Given the description of an element on the screen output the (x, y) to click on. 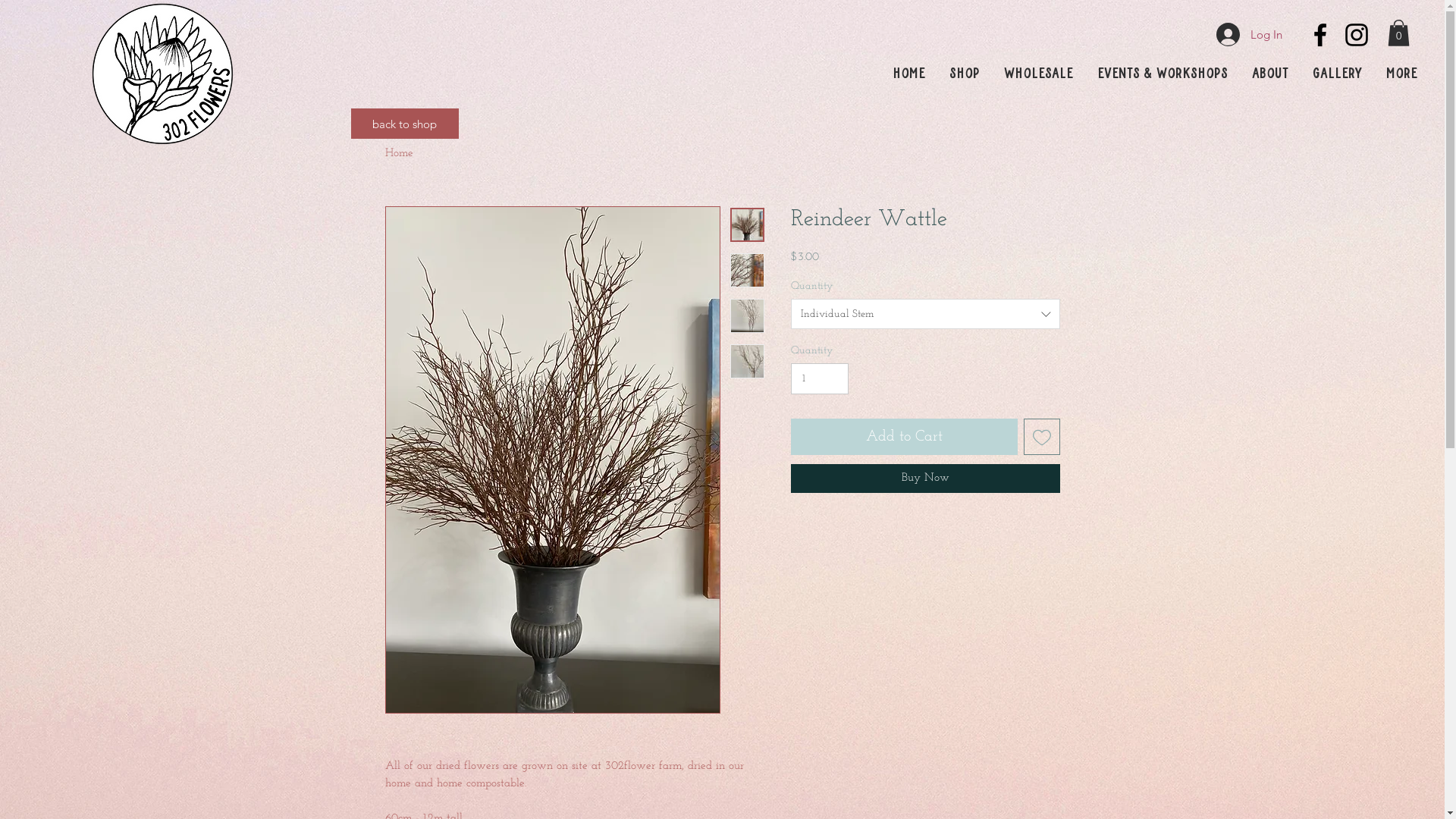
back to shop Element type: text (404, 123)
Buy Now Element type: text (924, 478)
Add to Cart Element type: text (903, 436)
Home Element type: text (908, 74)
Individual Stem Element type: text (924, 313)
Gallery Element type: text (1337, 74)
About Element type: text (1269, 74)
Log In Element type: text (1248, 34)
Home Element type: text (399, 153)
Events & Workshops Element type: text (1162, 74)
Wholesale Element type: text (1038, 74)
0 Element type: text (1398, 32)
